Given the description of an element on the screen output the (x, y) to click on. 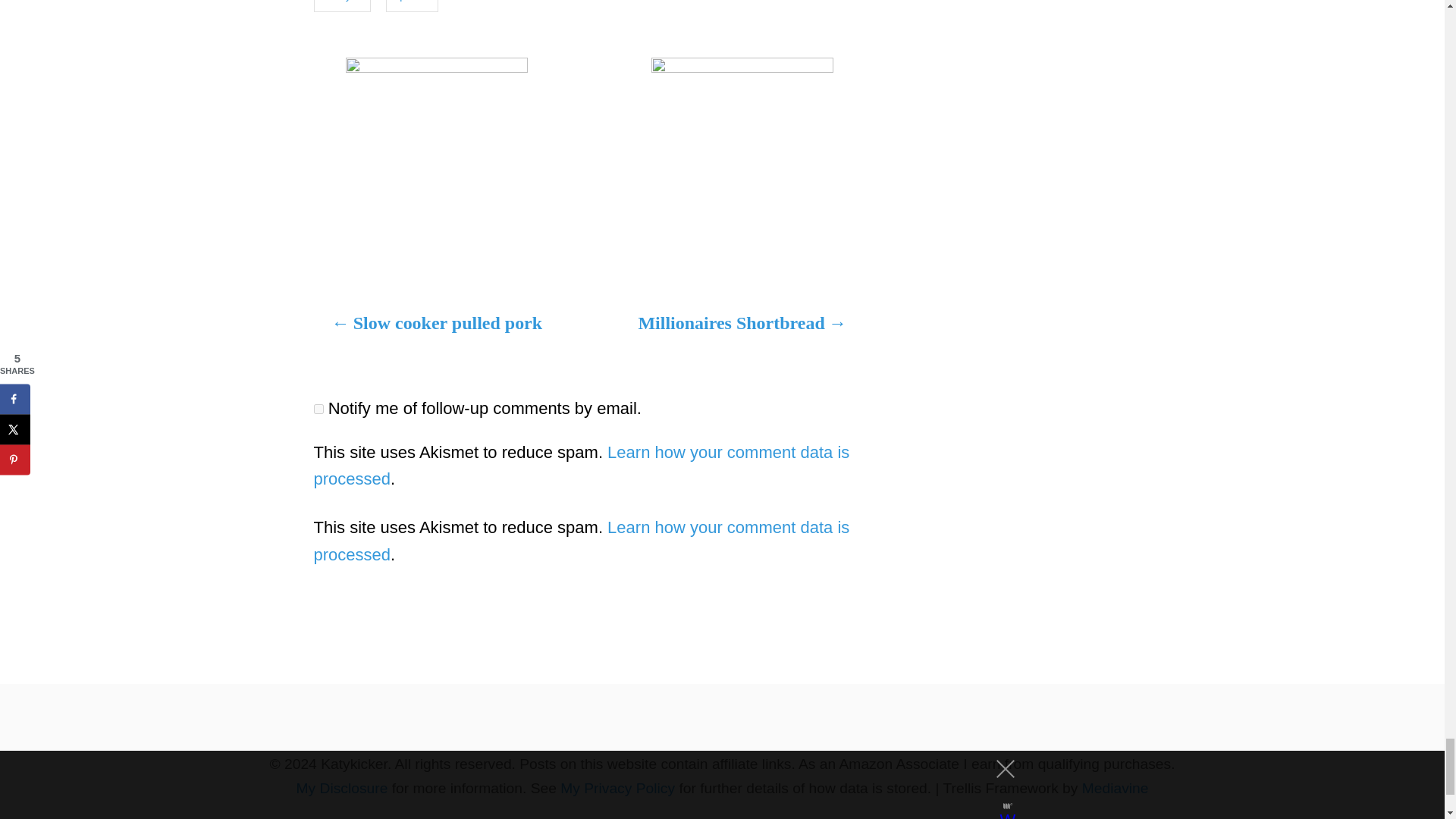
subscribe (318, 409)
